Given the description of an element on the screen output the (x, y) to click on. 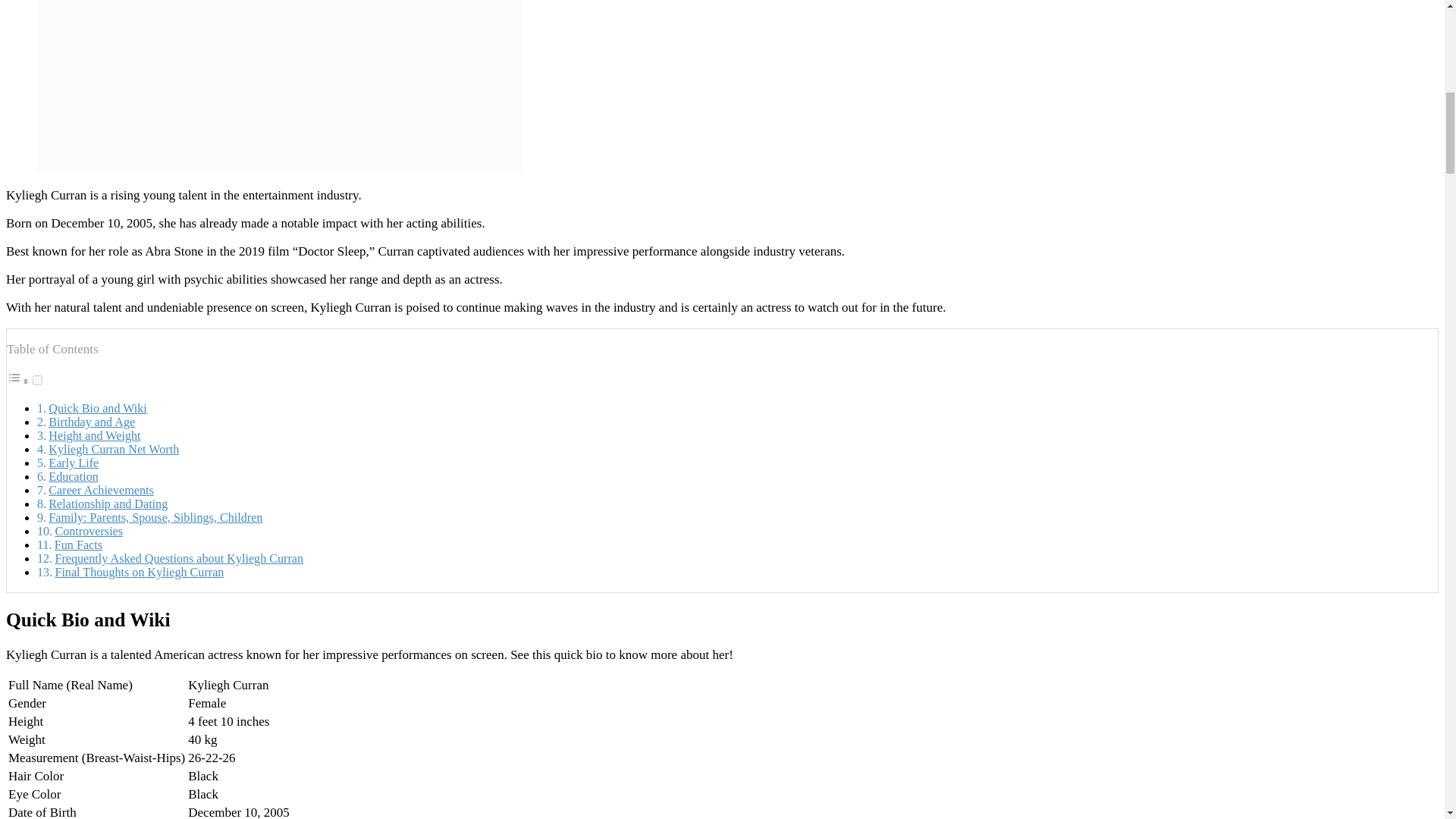
Quick Bio and Wiki (97, 408)
on (37, 379)
Early Life (73, 462)
Kyliegh Curran Net Worth (113, 449)
Birthday and Age (91, 421)
Height and Weight (93, 435)
Career Achievements (100, 490)
Education (72, 476)
